Given the description of an element on the screen output the (x, y) to click on. 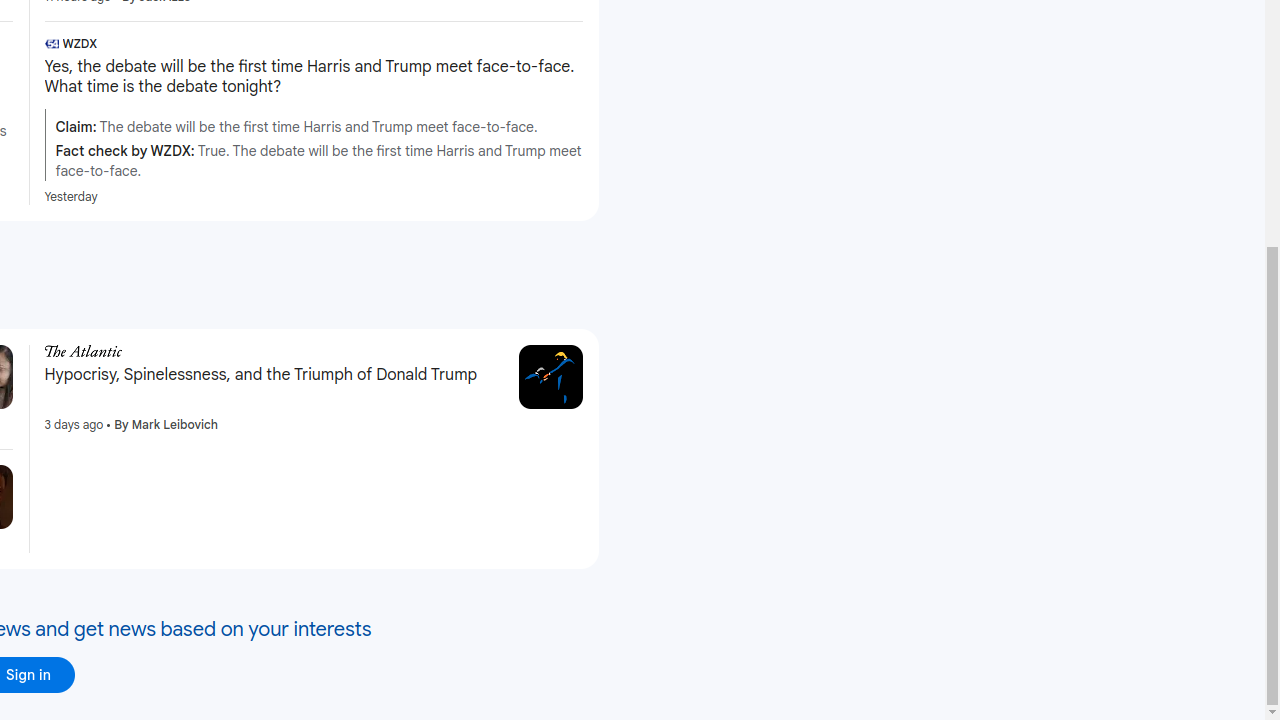
More - Yes, the debate will be the first time Harris and Trump meet face-to-face. What time is the debate tonight? Element type: push-button (576, 46)
Yes, the debate will be the first time Harris and Trump meet face-to-face. What time is the debate tonight? Element type: link (313, 77)
More - Hypocrisy, Spinelessness, and the Triumph of Donald Trump Element type: push-button (496, 354)
Hypocrisy, Spinelessness, and the Triumph of Donald Trump Element type: link (273, 375)
